Given the description of an element on the screen output the (x, y) to click on. 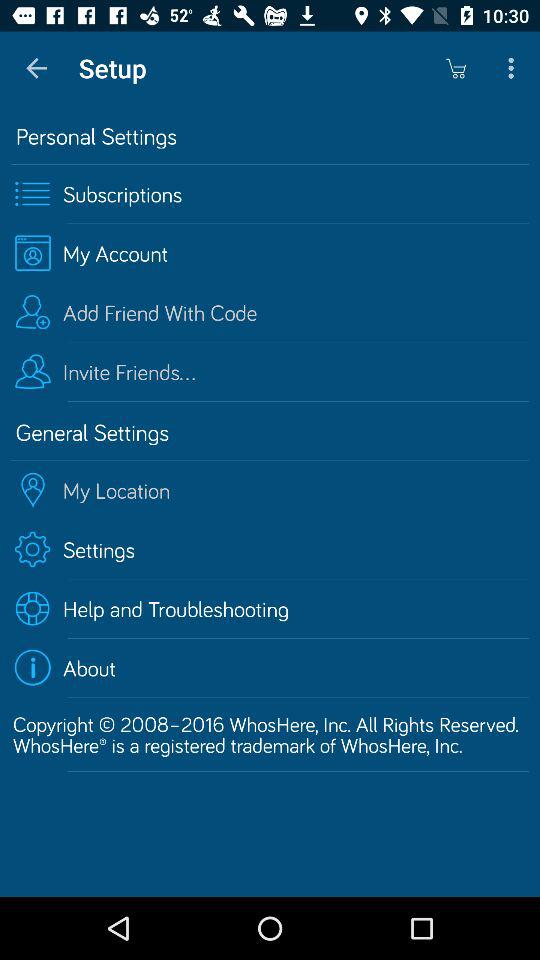
click the icon above the personal settings icon (513, 67)
